Given the description of an element on the screen output the (x, y) to click on. 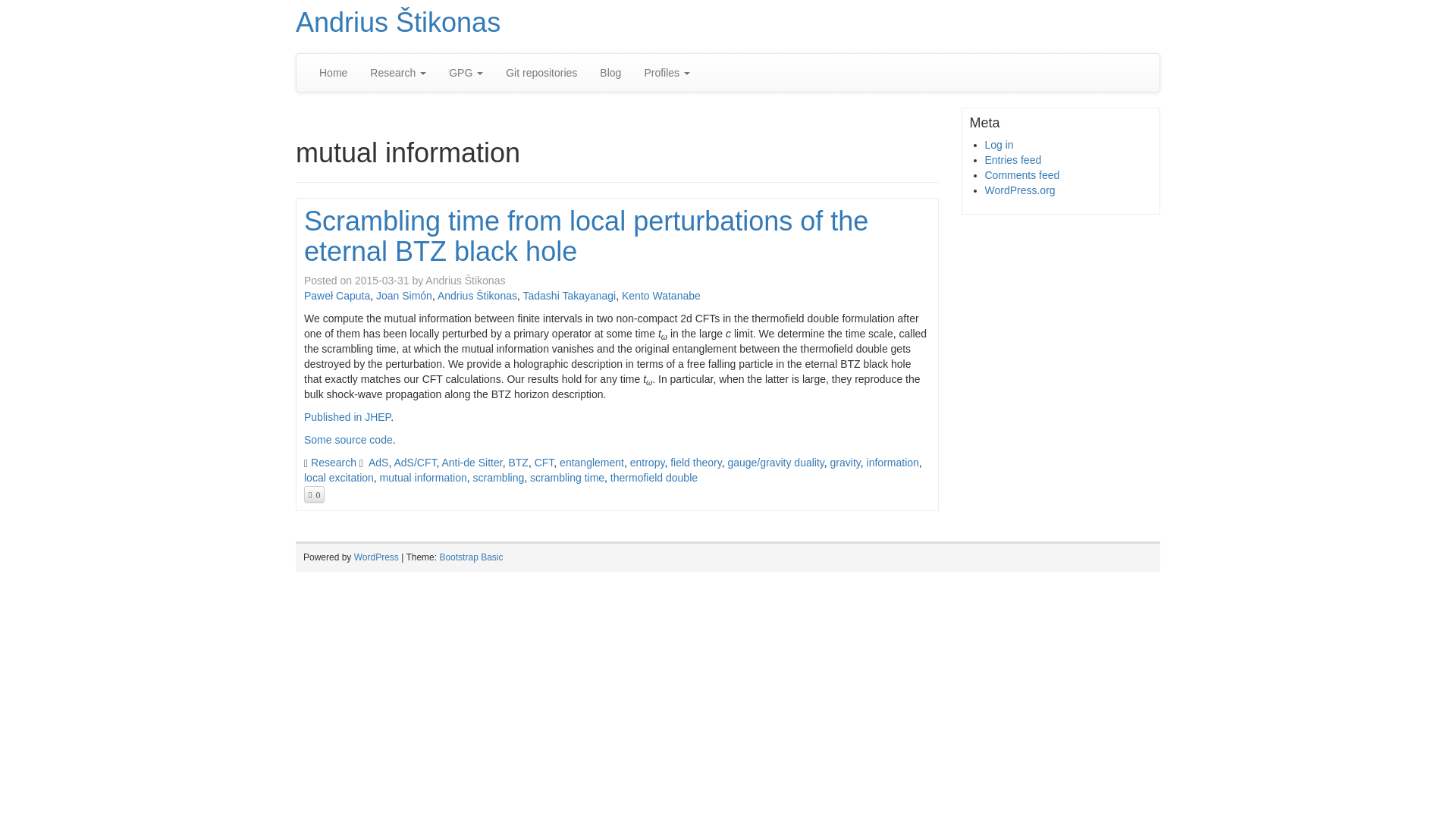
Git repositories (541, 72)
Some source code (348, 439)
gravity (844, 462)
Research (398, 72)
entanglement (591, 462)
AdS (378, 462)
scrambling (498, 477)
Profiles (666, 72)
field theory (694, 462)
Tadashi Takayanagi (568, 295)
01:37 (382, 280)
Blog (609, 72)
Kento Watanabe (660, 295)
GPG (466, 72)
